Given the description of an element on the screen output the (x, y) to click on. 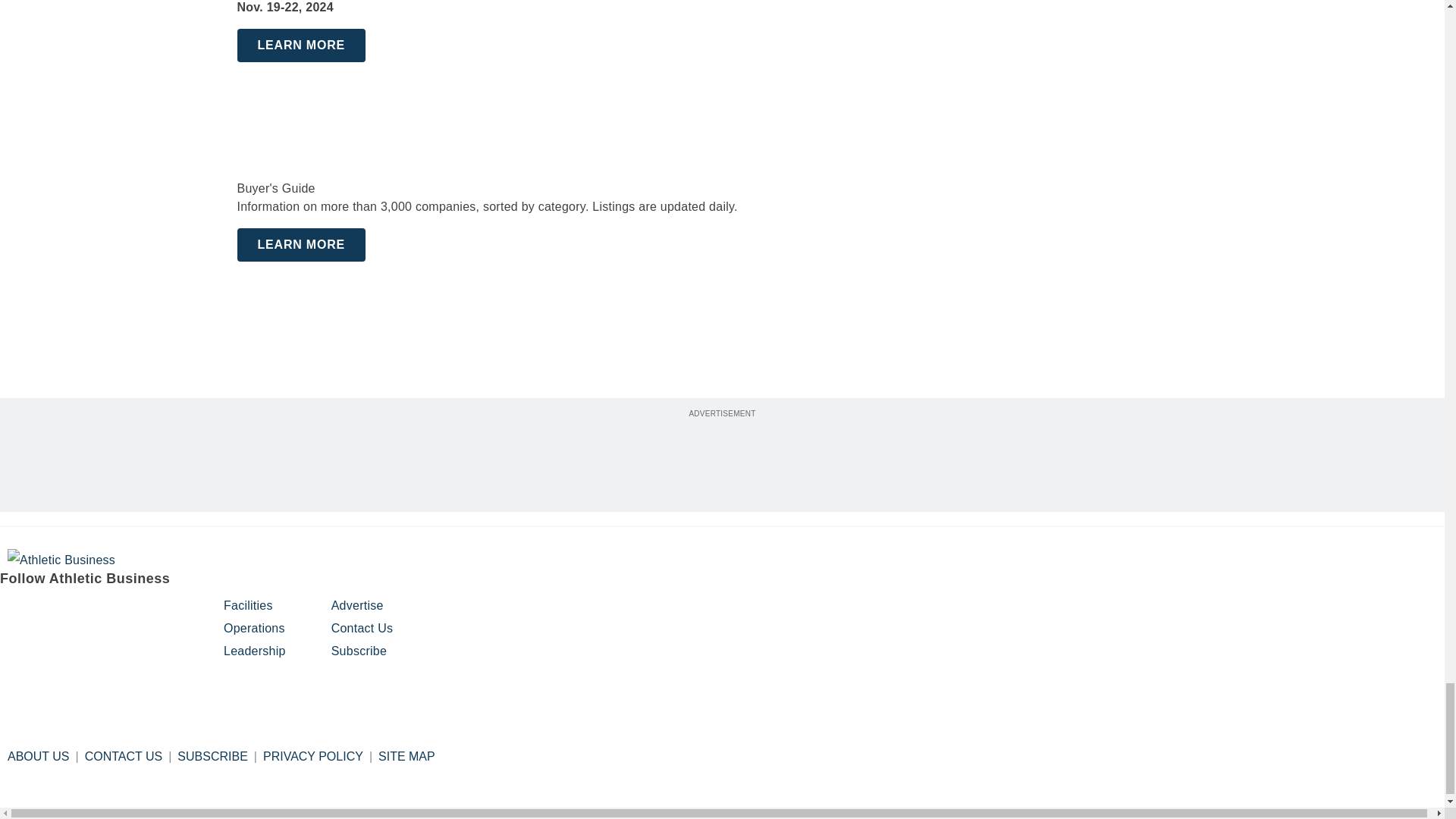
Twitter X icon (168, 611)
Instagram icon (52, 611)
Facebook icon (13, 611)
LinkedIn icon (90, 611)
YouTube icon (129, 611)
